Given the description of an element on the screen output the (x, y) to click on. 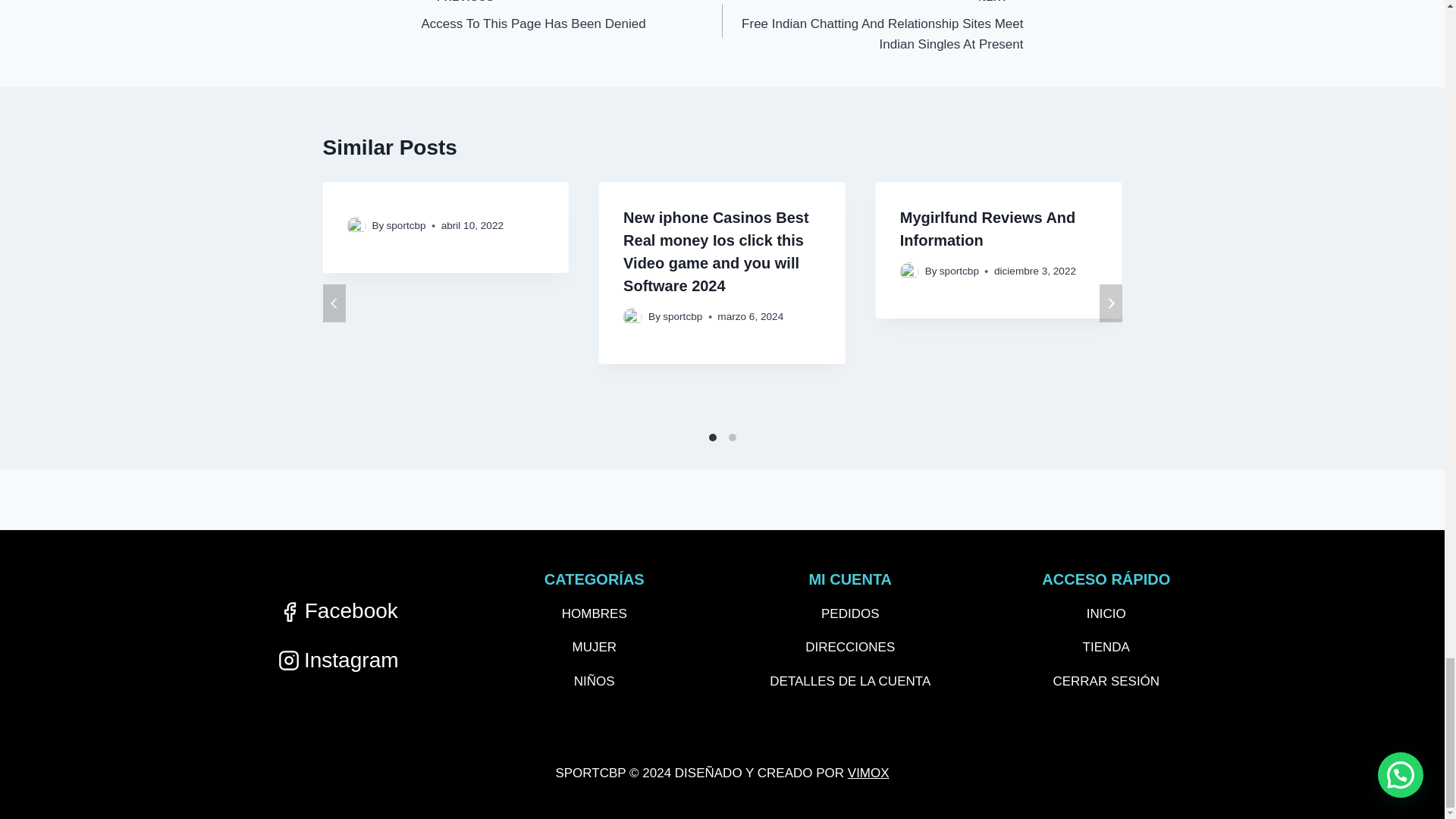
prev (572, 17)
next (334, 303)
